Given the description of an element on the screen output the (x, y) to click on. 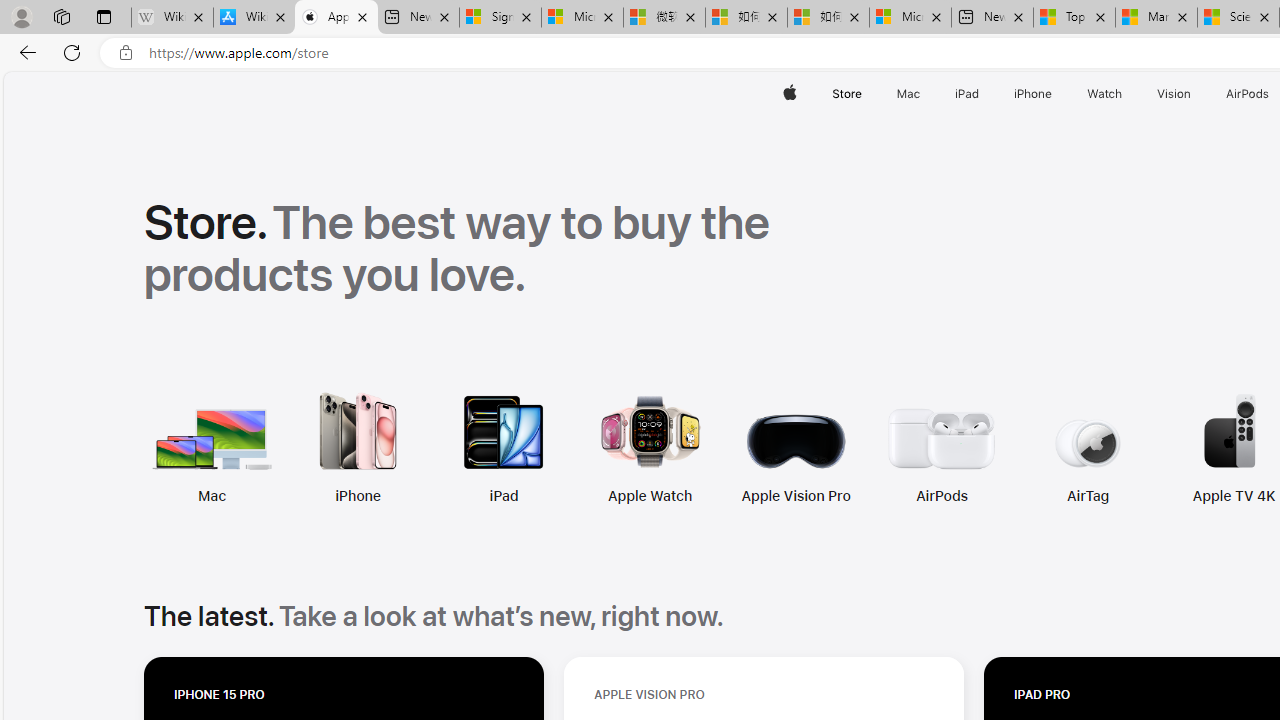
Apple (789, 93)
AirTag (953, 447)
Vision (1174, 93)
Apple Store Online - Apple (336, 17)
Microsoft account | Account Checkup (910, 17)
Apple TV 4K (1099, 447)
iPad (368, 447)
iPad menu (982, 93)
AirPods (806, 447)
Mac menu (922, 93)
